Given the description of an element on the screen output the (x, y) to click on. 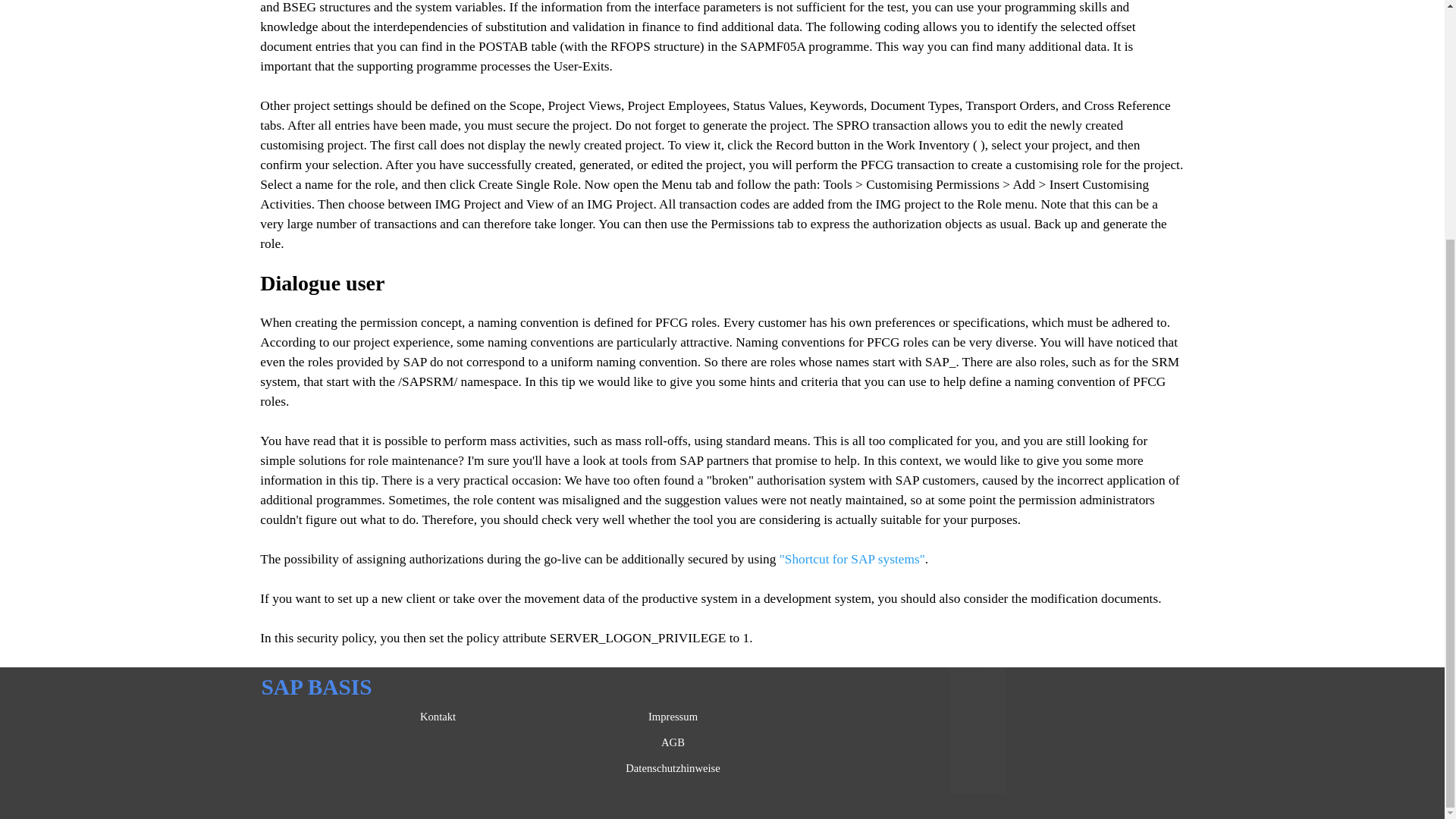
Datenschutzhinweise (672, 767)
Kontakt (438, 716)
Mirrors (968, 787)
AGB (672, 742)
"Shortcut for SAP systems" (851, 559)
Impressum (672, 716)
